Given the description of an element on the screen output the (x, y) to click on. 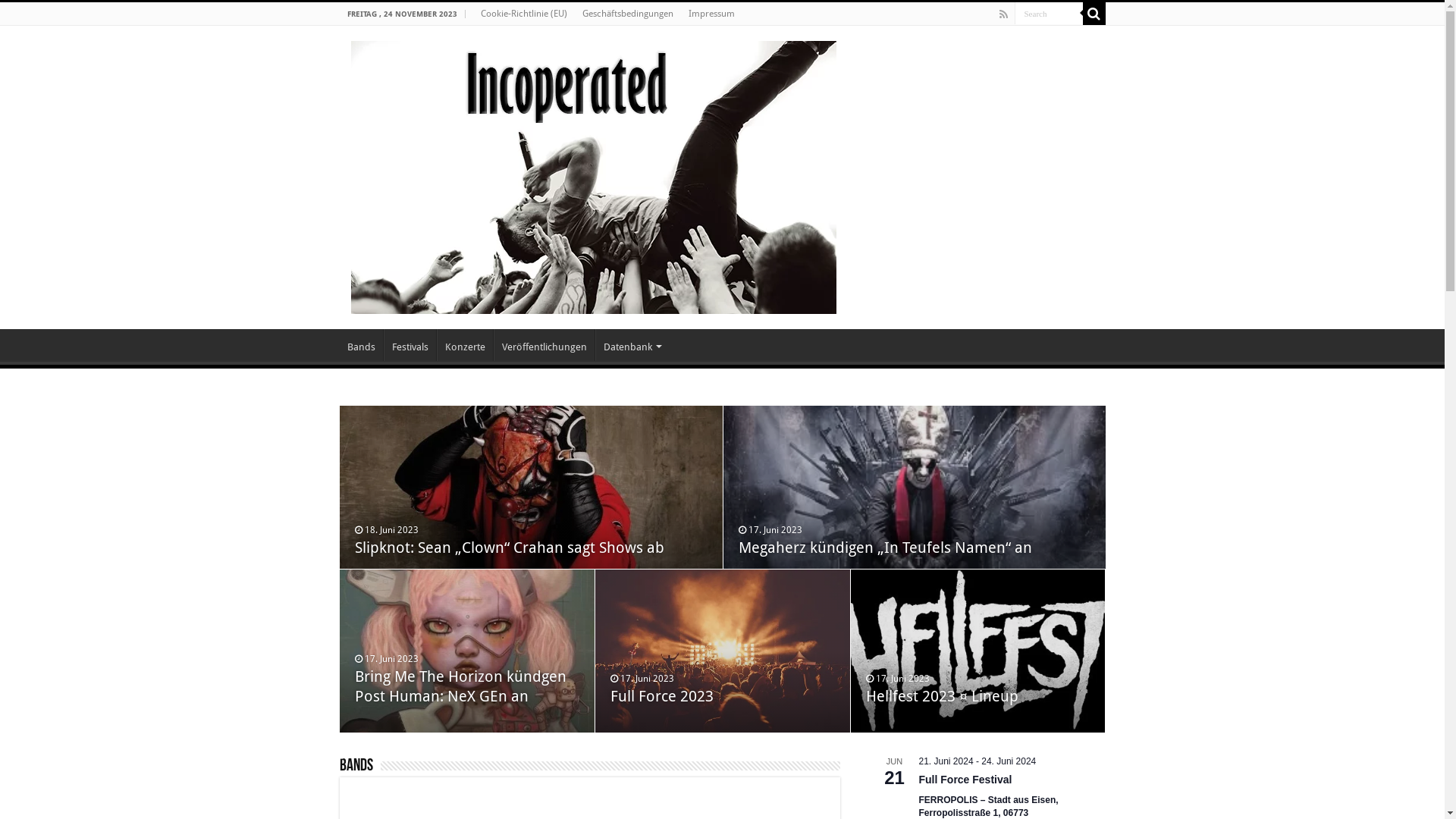
Incoperated Element type: hover (592, 174)
Search Element type: hover (1048, 13)
Konzerte Element type: text (464, 344)
Bands Element type: text (356, 766)
Full Force 2023 Element type: text (661, 696)
Rss Element type: hover (1003, 14)
Bands Element type: text (360, 344)
Festivals Element type: text (409, 344)
Datenbank Element type: text (630, 344)
Search Element type: text (1093, 13)
Cookie-Richtlinie (EU) Element type: text (523, 13)
Impressum Element type: text (711, 13)
Full Force Festival Element type: text (965, 779)
